Given the description of an element on the screen output the (x, y) to click on. 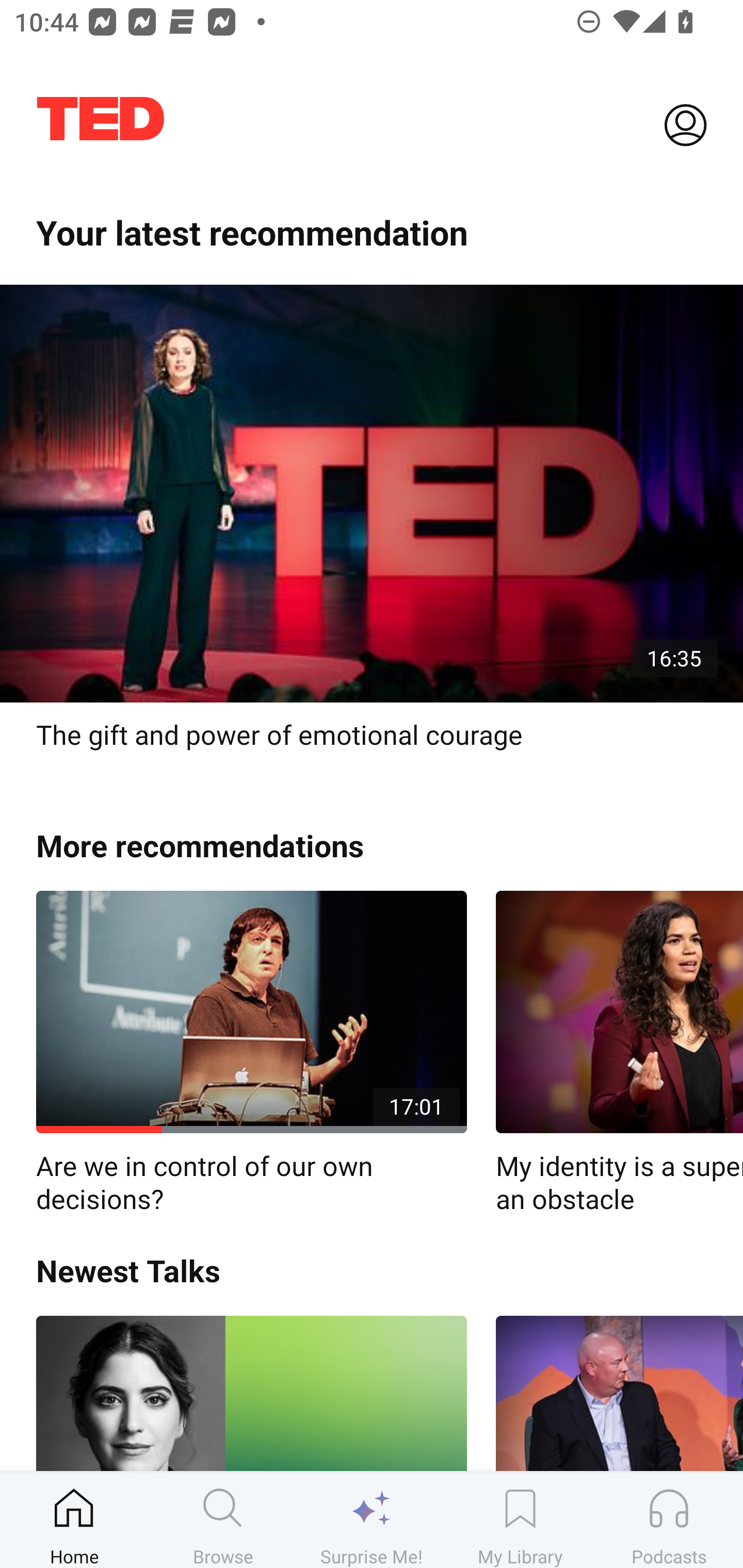
17:01 Are we in control of our own decisions? (251, 1053)
My identity is a superpower -- not an obstacle (619, 1053)
Home (74, 1520)
Browse (222, 1520)
Surprise Me! (371, 1520)
My Library (519, 1520)
Podcasts (668, 1520)
